Given the description of an element on the screen output the (x, y) to click on. 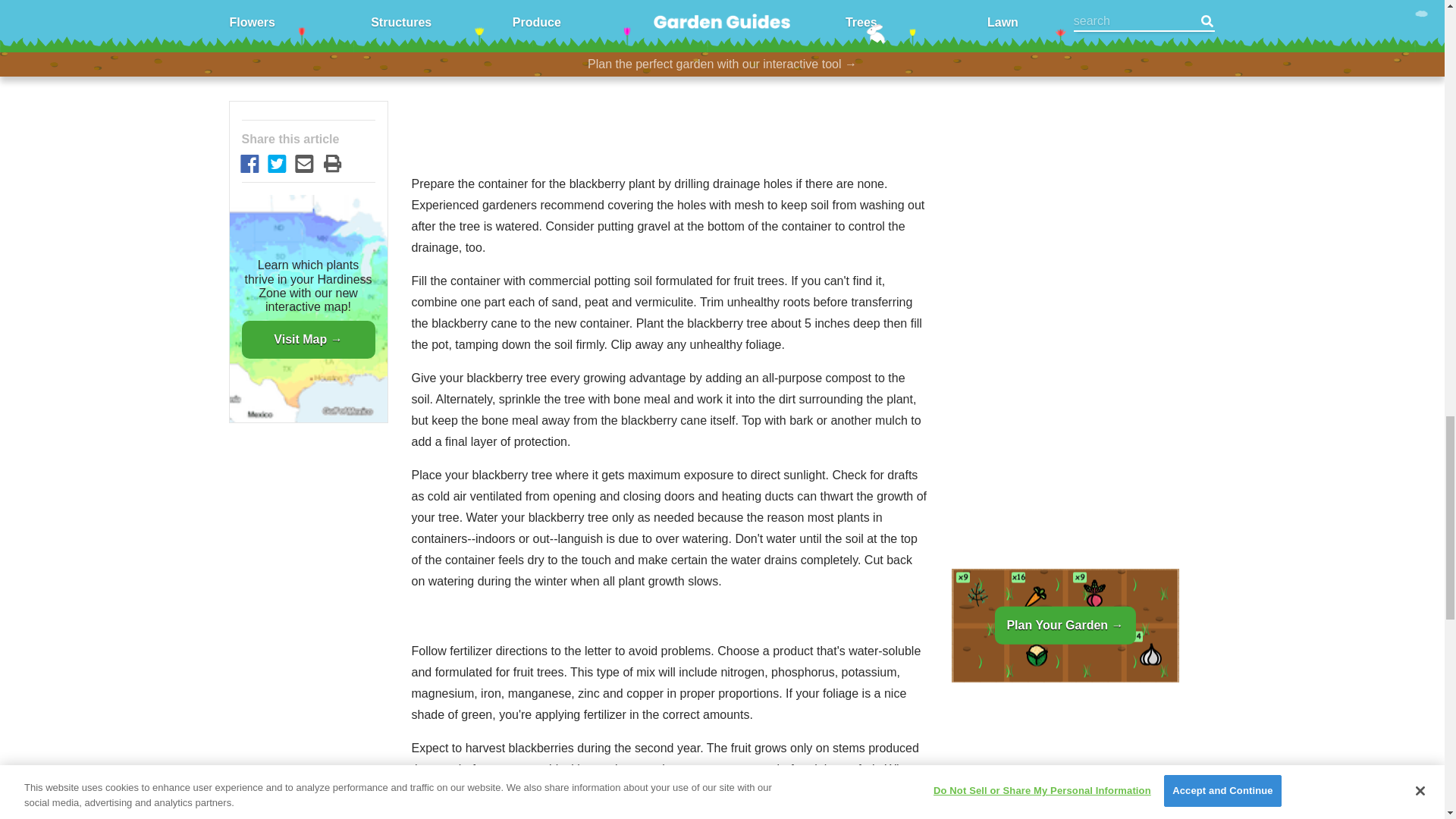
3rd party ad content (668, 74)
